Given the description of an element on the screen output the (x, y) to click on. 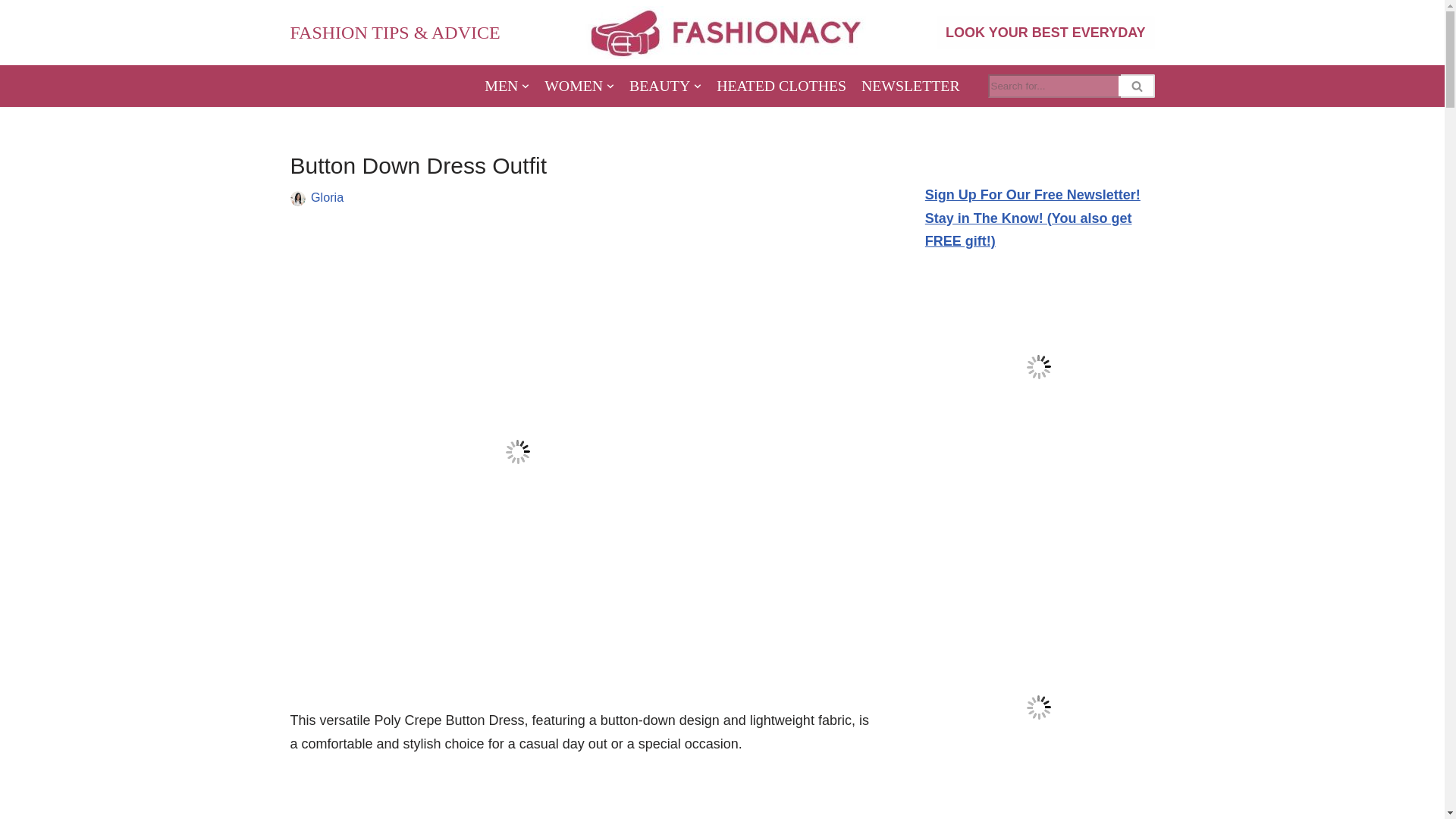
MEN (506, 86)
LOOK YOUR BEST EVERYDAY (1045, 32)
WOMEN (579, 86)
BEAUTY (664, 86)
Posts by Gloria (327, 196)
Skip to content (11, 31)
